Given the description of an element on the screen output the (x, y) to click on. 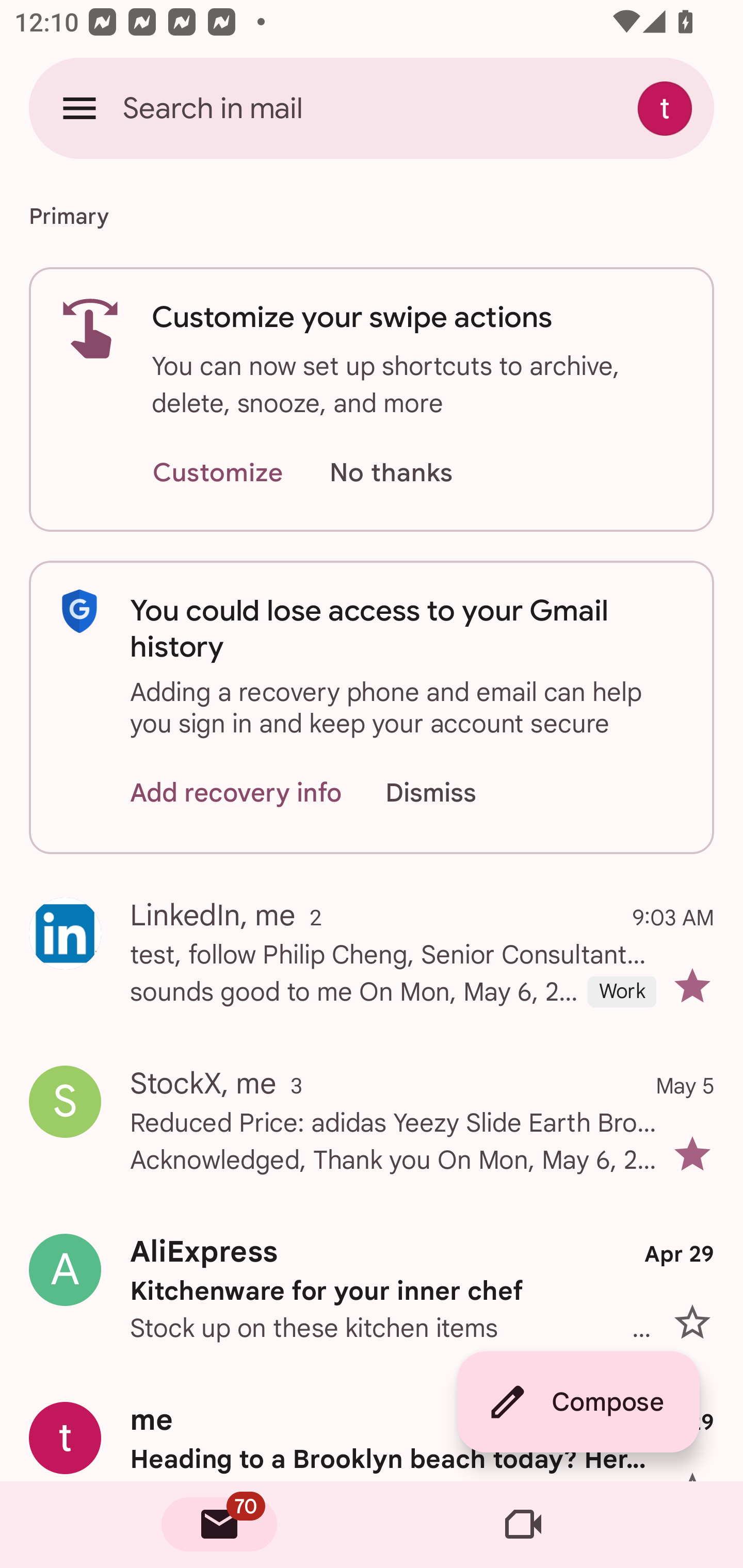
Open navigation drawer (79, 108)
Customize (217, 473)
No thanks (390, 473)
Add recovery info (235, 792)
Dismiss (449, 792)
Compose (577, 1401)
Meet (523, 1524)
